Given the description of an element on the screen output the (x, y) to click on. 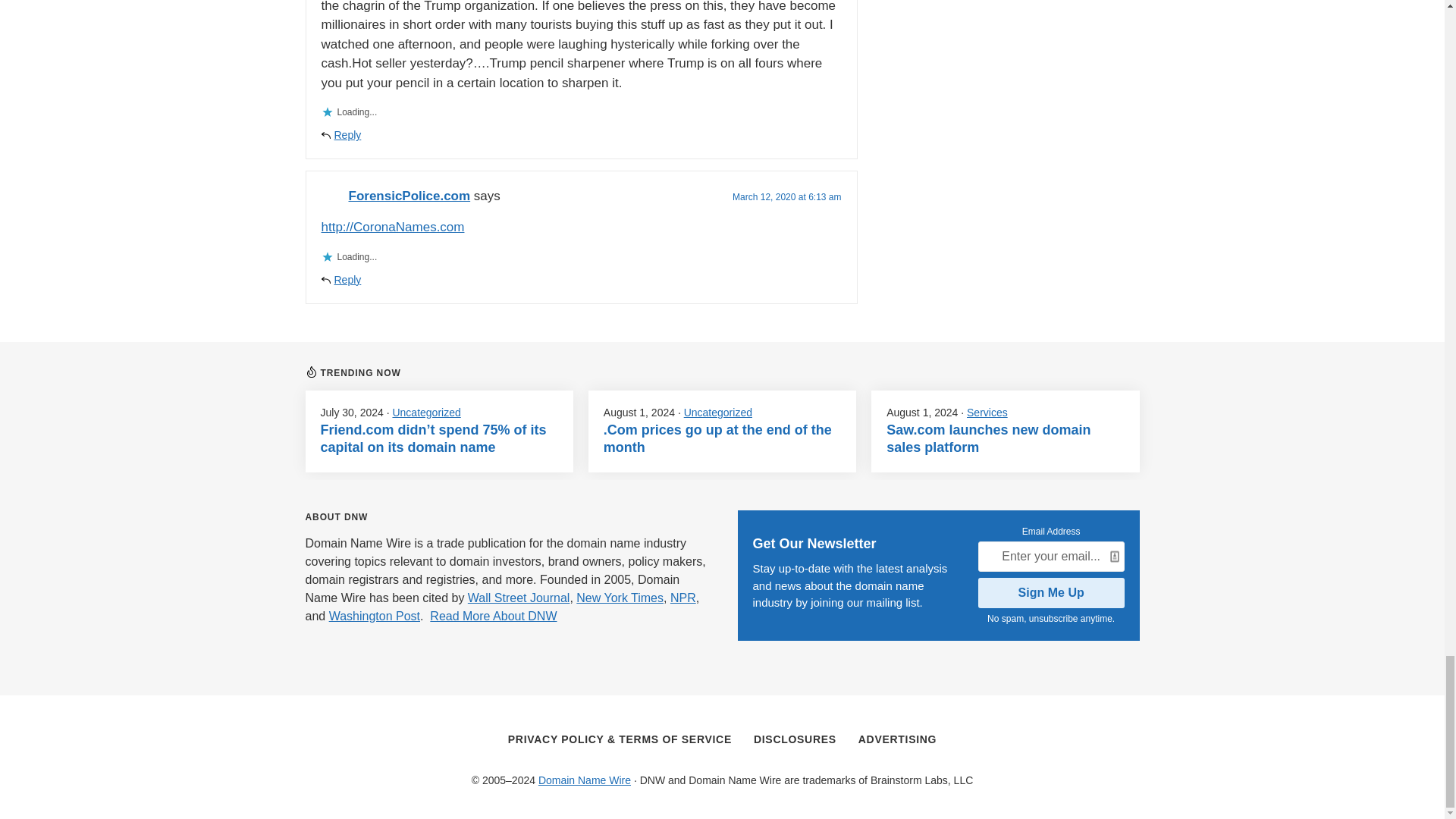
Sign Me Up (1051, 593)
